Given the description of an element on the screen output the (x, y) to click on. 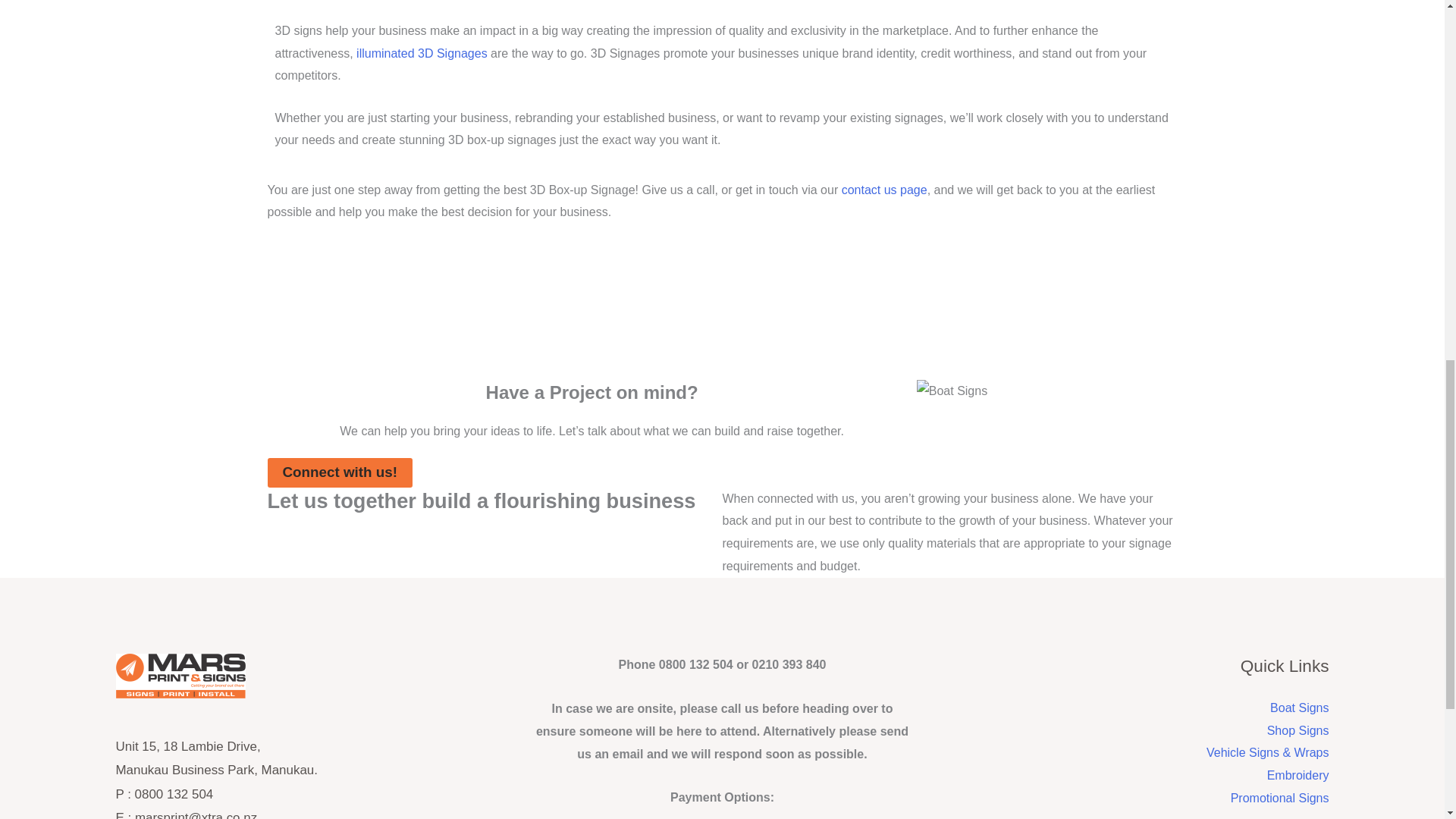
contact us page (884, 189)
illuminated 3D Signages (421, 52)
Connect with us! (339, 472)
